Given the description of an element on the screen output the (x, y) to click on. 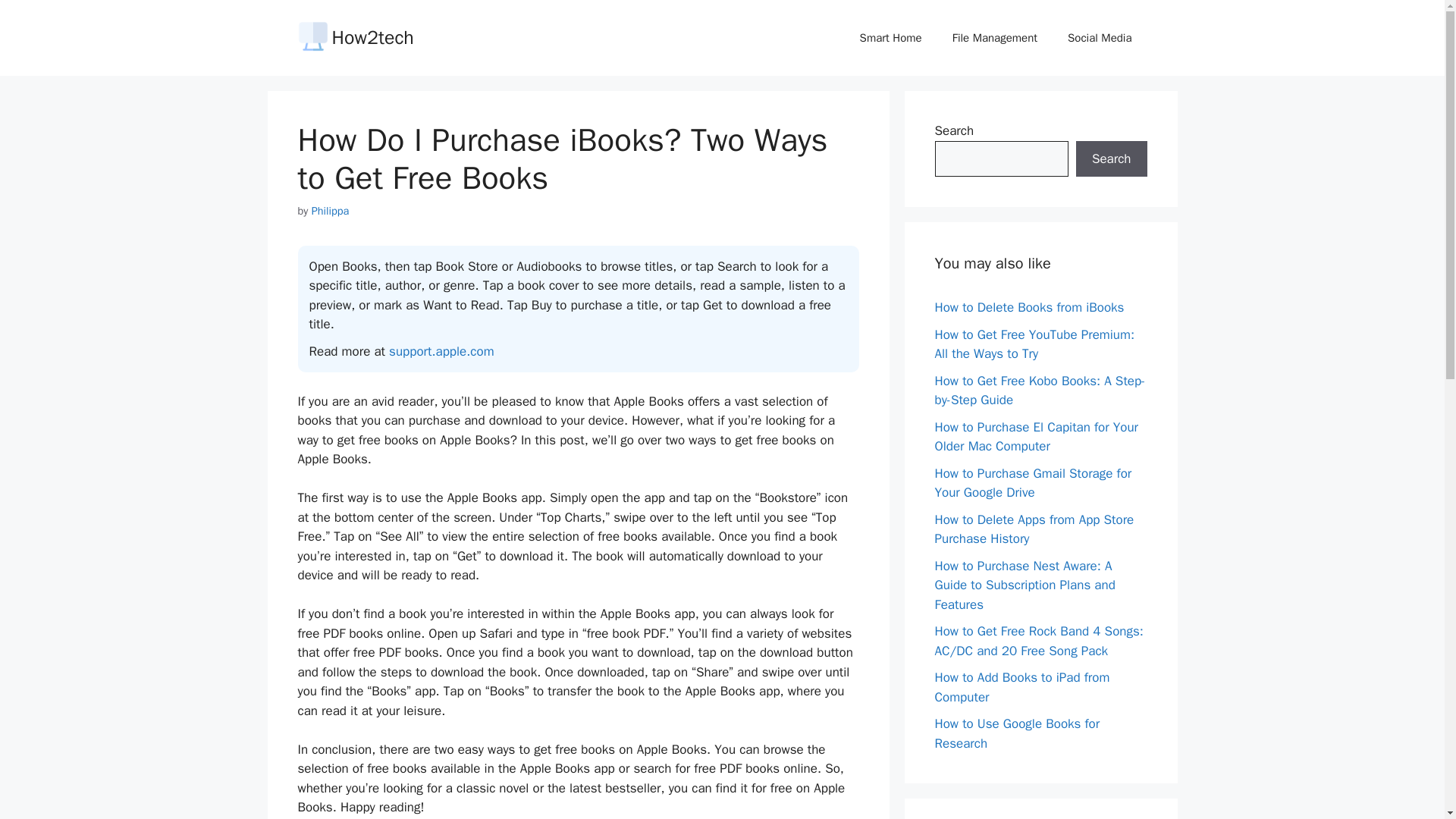
Social Media (1099, 37)
How to Purchase El Capitan for Your Older Mac Computer (1036, 436)
Philippa (330, 210)
View all posts by Philippa (330, 210)
Smart Home (890, 37)
How to Purchase Gmail Storage for Your Google Drive (1032, 483)
How to Use Google Books for Research (1016, 733)
How to Add Books to iPad from Computer (1021, 687)
How to Delete Books from iBooks (1029, 307)
